Given the description of an element on the screen output the (x, y) to click on. 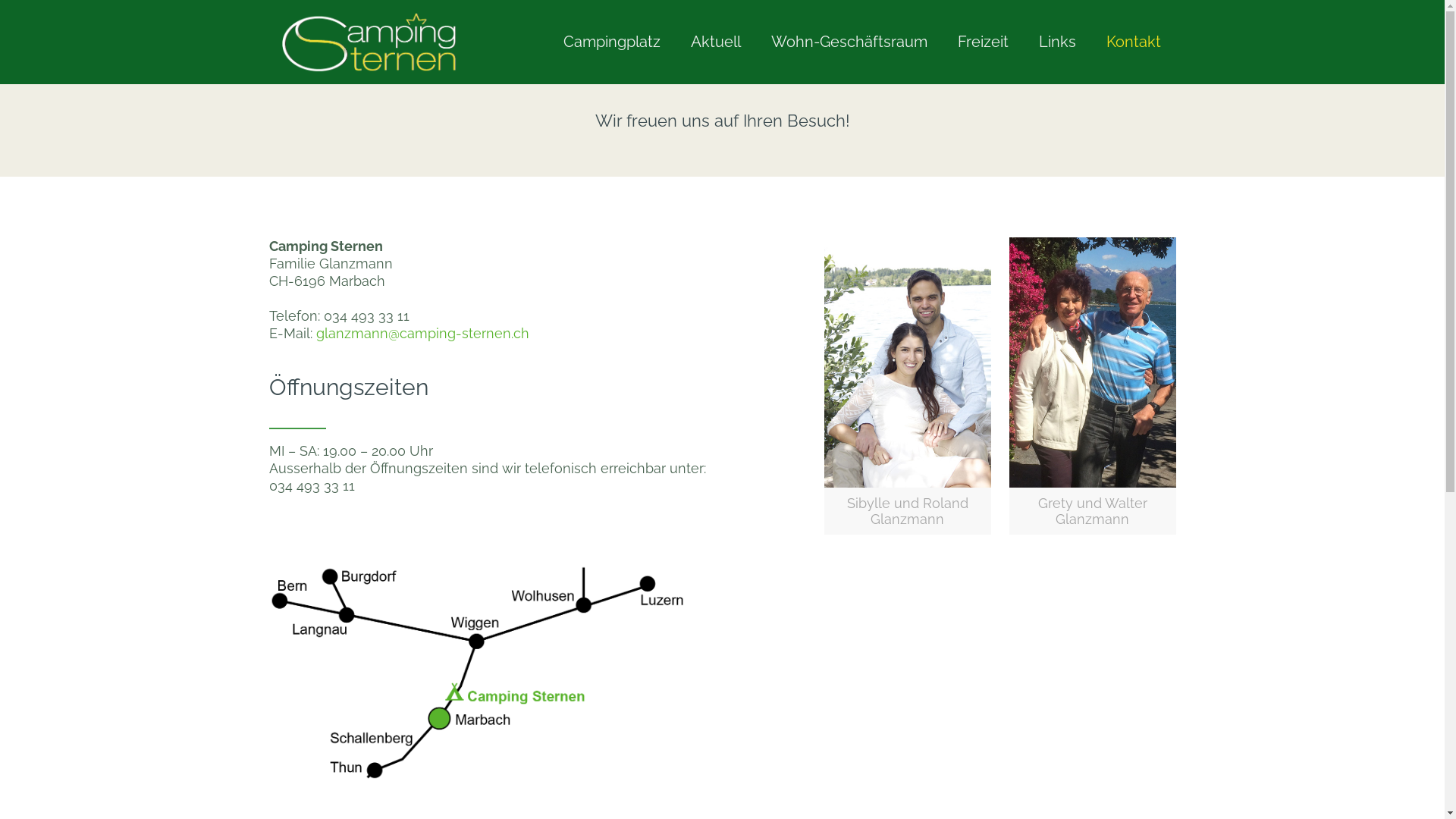
Campingplatz Element type: text (610, 41)
Aktuell Element type: text (714, 41)
Kontakt Element type: text (1132, 41)
glanzmann@camping-sternen.ch Element type: text (421, 333)
Links Element type: text (1057, 41)
Camping Sternen Element type: hover (368, 41)
Freizeit Element type: text (981, 41)
